Given the description of an element on the screen output the (x, y) to click on. 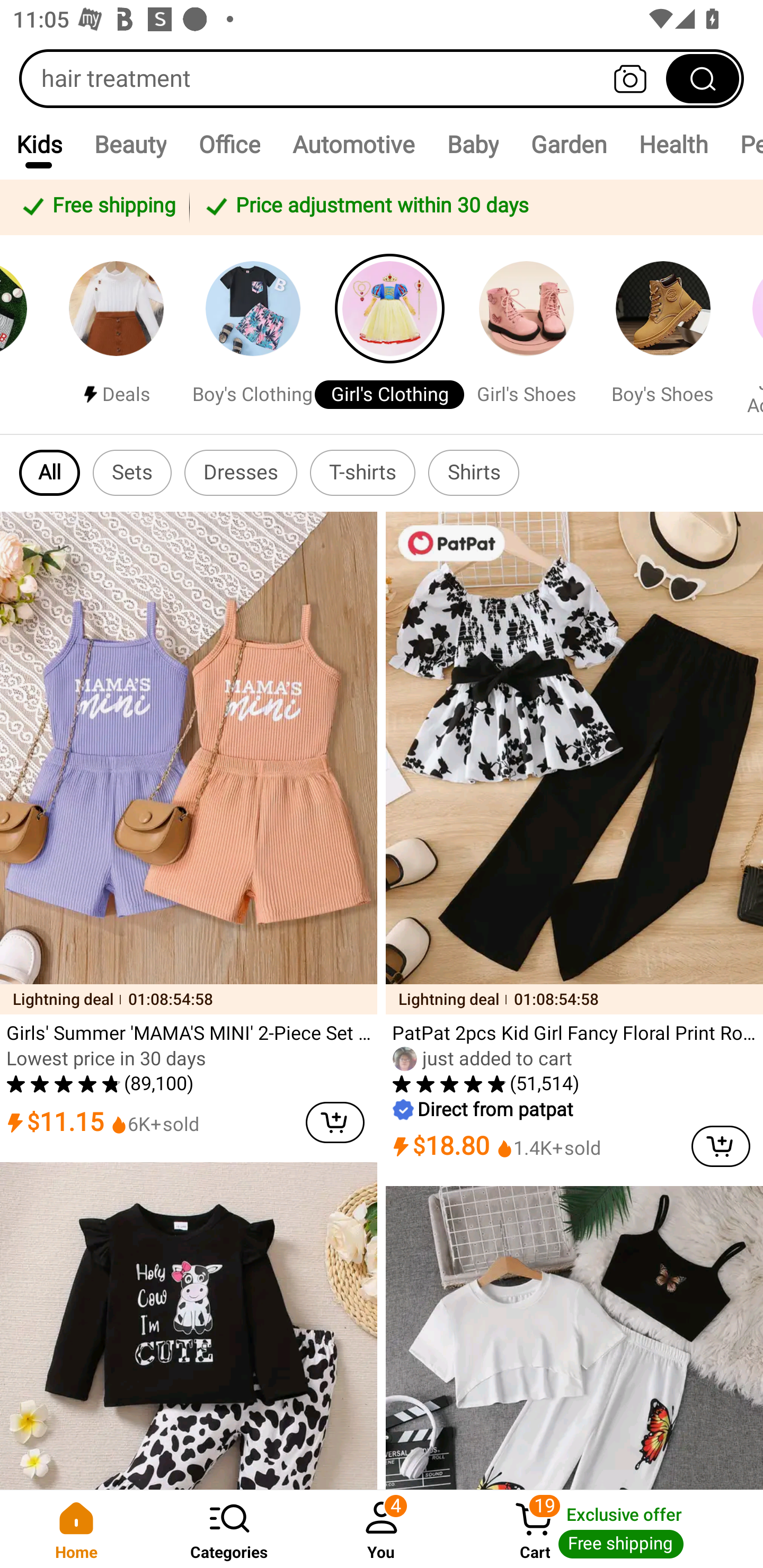
hair treatment (381, 78)
Kids (38, 144)
Beauty (129, 144)
Office (229, 144)
Automotive (353, 144)
Baby (472, 144)
Garden (568, 144)
Health (673, 144)
Free shipping (97, 206)
Price adjustment within 30 days (472, 206)
￼￼Deals (115, 333)
Boy's Clothing (252, 333)
Girl's Clothing (389, 333)
Girl's Shoes (525, 333)
Boy's Shoes (662, 333)
All (49, 472)
Sets (132, 472)
Dresses (240, 472)
T-shirts (362, 472)
Shirts (473, 472)
cart delete (334, 1122)
cart delete (720, 1145)
Home (76, 1528)
Categories (228, 1528)
You 4 You (381, 1528)
Cart 19 Cart Exclusive offer (610, 1528)
